Given the description of an element on the screen output the (x, y) to click on. 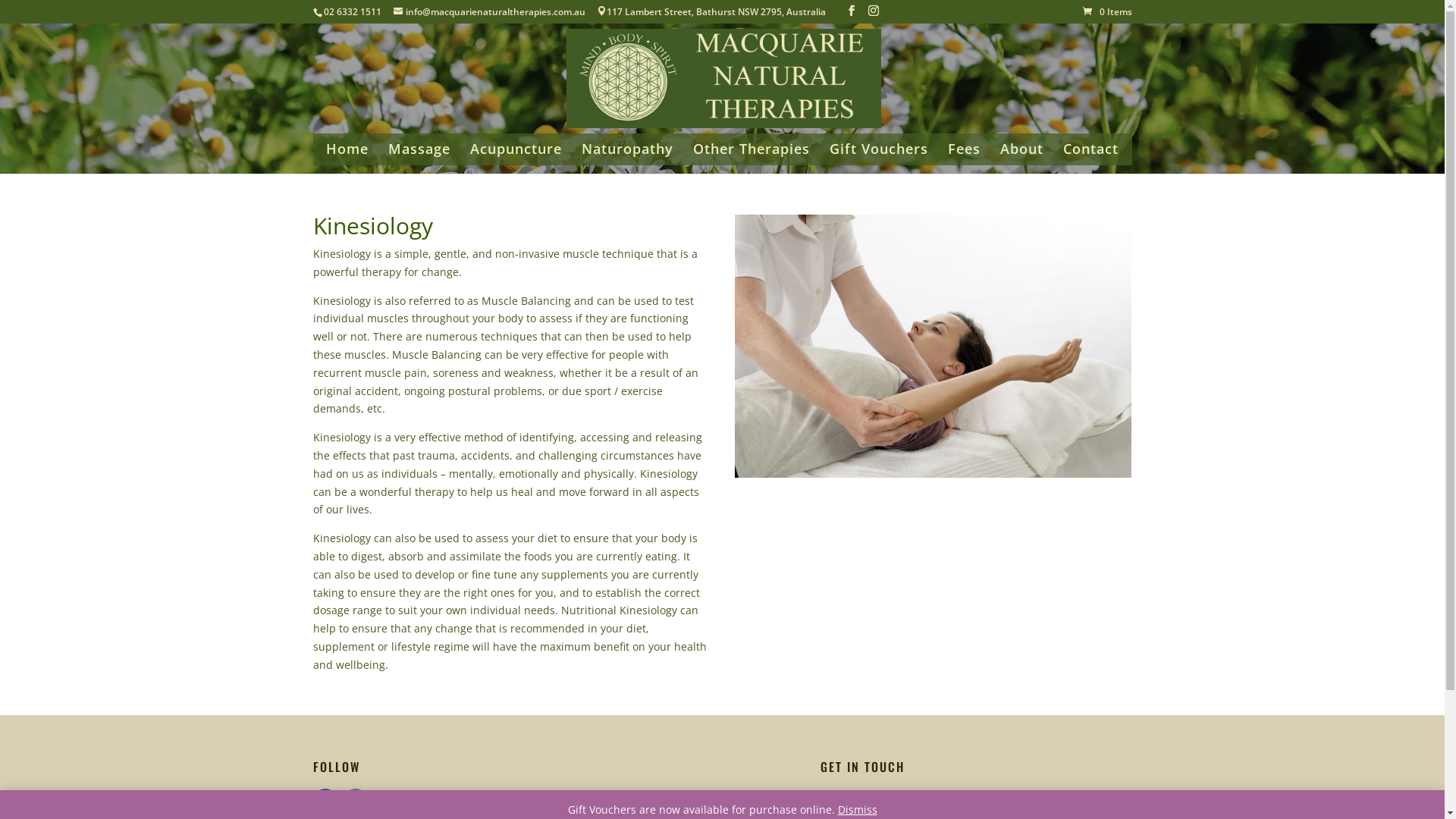
Follow on Facebook Element type: hover (324, 800)
Naturopathy Element type: text (627, 154)
Home Element type: text (347, 154)
Follow on Instagram Element type: hover (354, 800)
Dismiss Element type: text (856, 809)
Acupuncture Element type: text (515, 154)
Gift Vouchers Element type: text (878, 154)
Other Therapies Element type: text (751, 154)
info@macquarienaturaltherapies.com.au Element type: text (1019, 807)
0 Items Element type: text (1107, 11)
117 Lambert Street Element type: text (684, 807)
117 Lambert Street, Bathurst NSW 2795, Australia Element type: text (710, 11)
About Element type: text (1021, 154)
info@macquarienaturaltherapies.com.au Element type: text (494, 11)
02 6332 1511 Element type: text (351, 11)
Contact Element type: text (1090, 154)
Fees Element type: text (963, 154)
Massage Element type: text (419, 154)
